Given the description of an element on the screen output the (x, y) to click on. 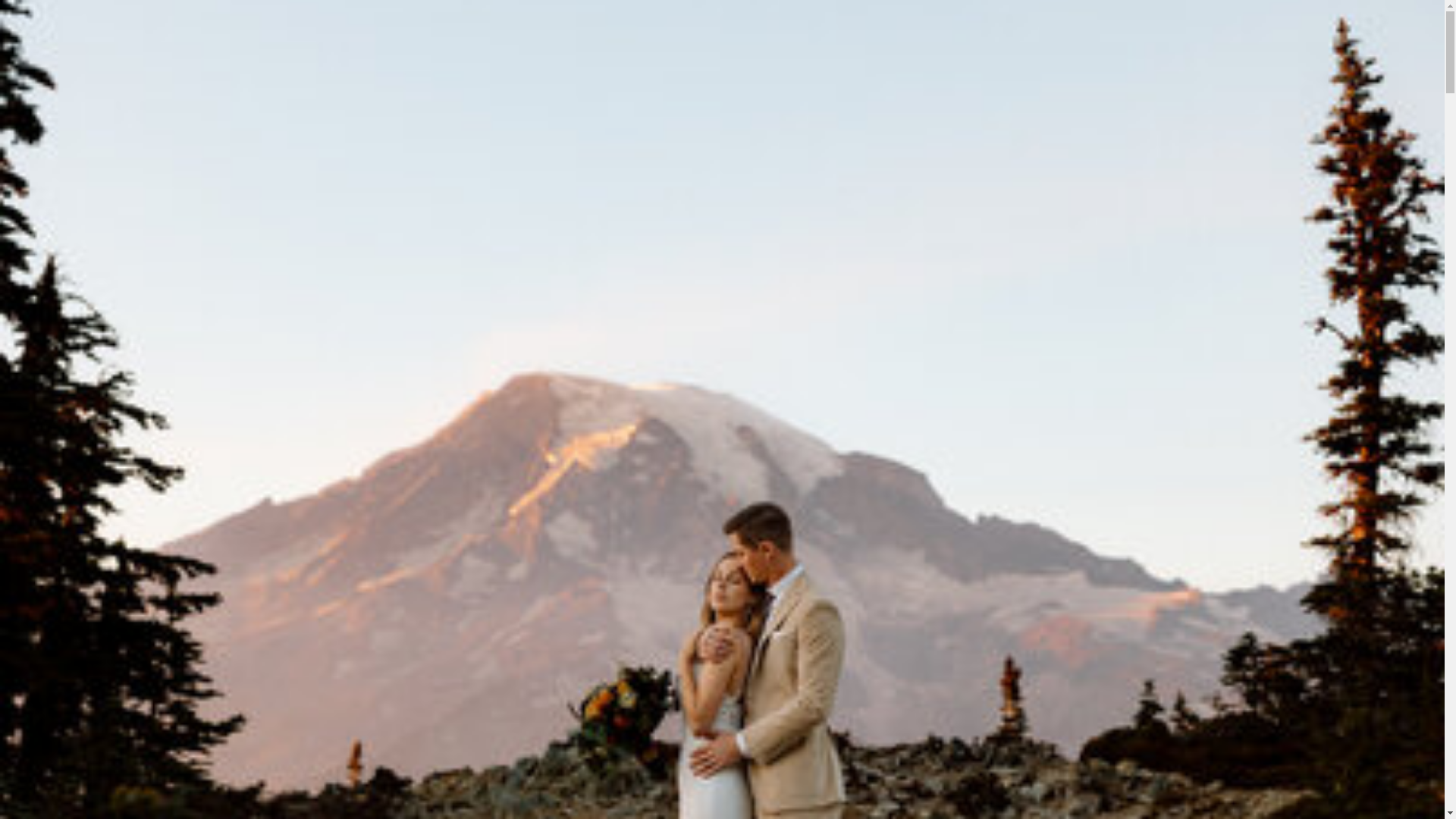
BLOG (460, 99)
EXPERIENCE (460, 112)
ABOUT (460, 140)
MENTORSHIPS (460, 153)
PORTFOLIO (460, 126)
CONTACT (460, 85)
